Given the description of an element on the screen output the (x, y) to click on. 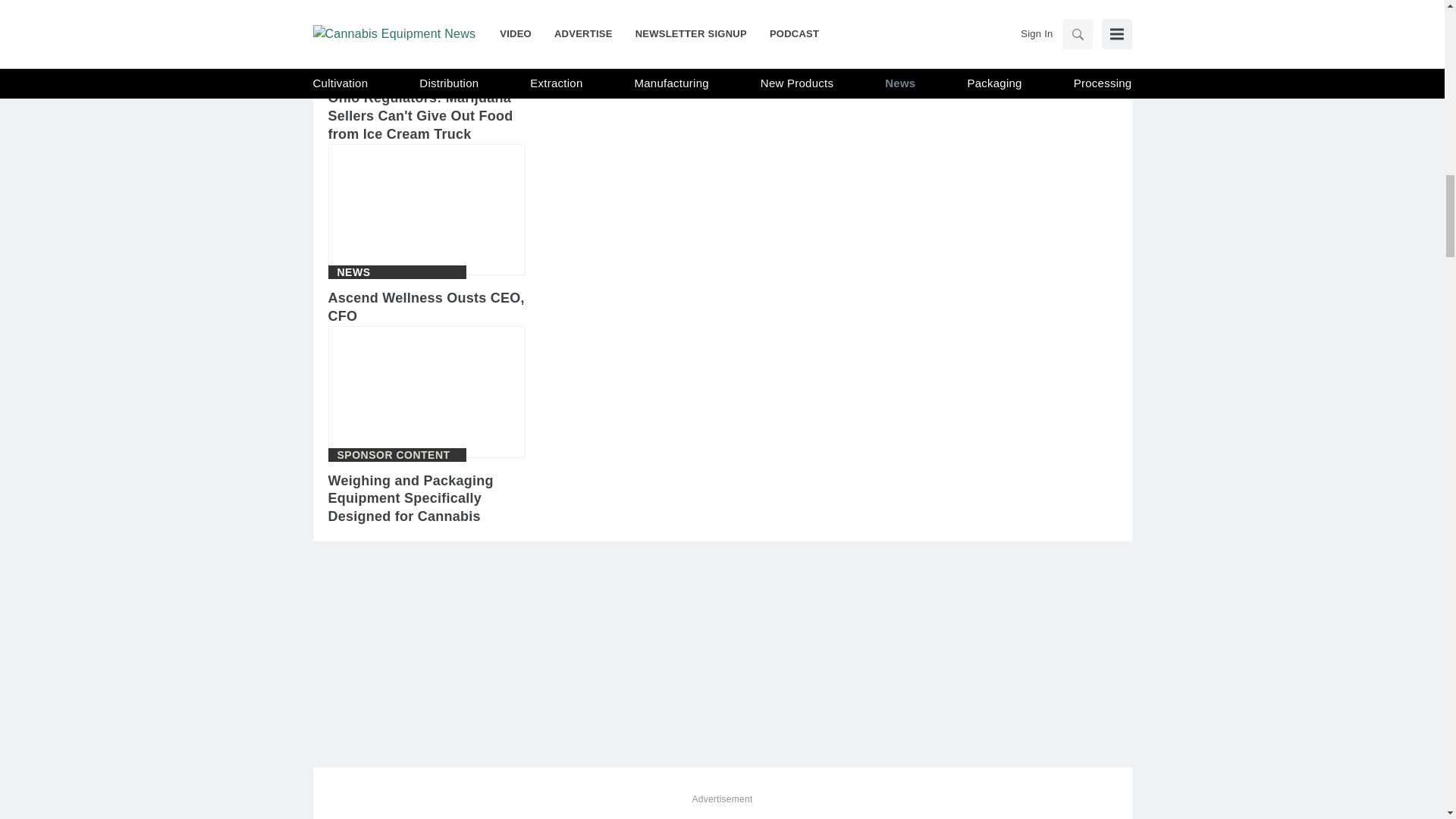
News (352, 71)
Sponsor Content (392, 454)
News (352, 271)
